Given the description of an element on the screen output the (x, y) to click on. 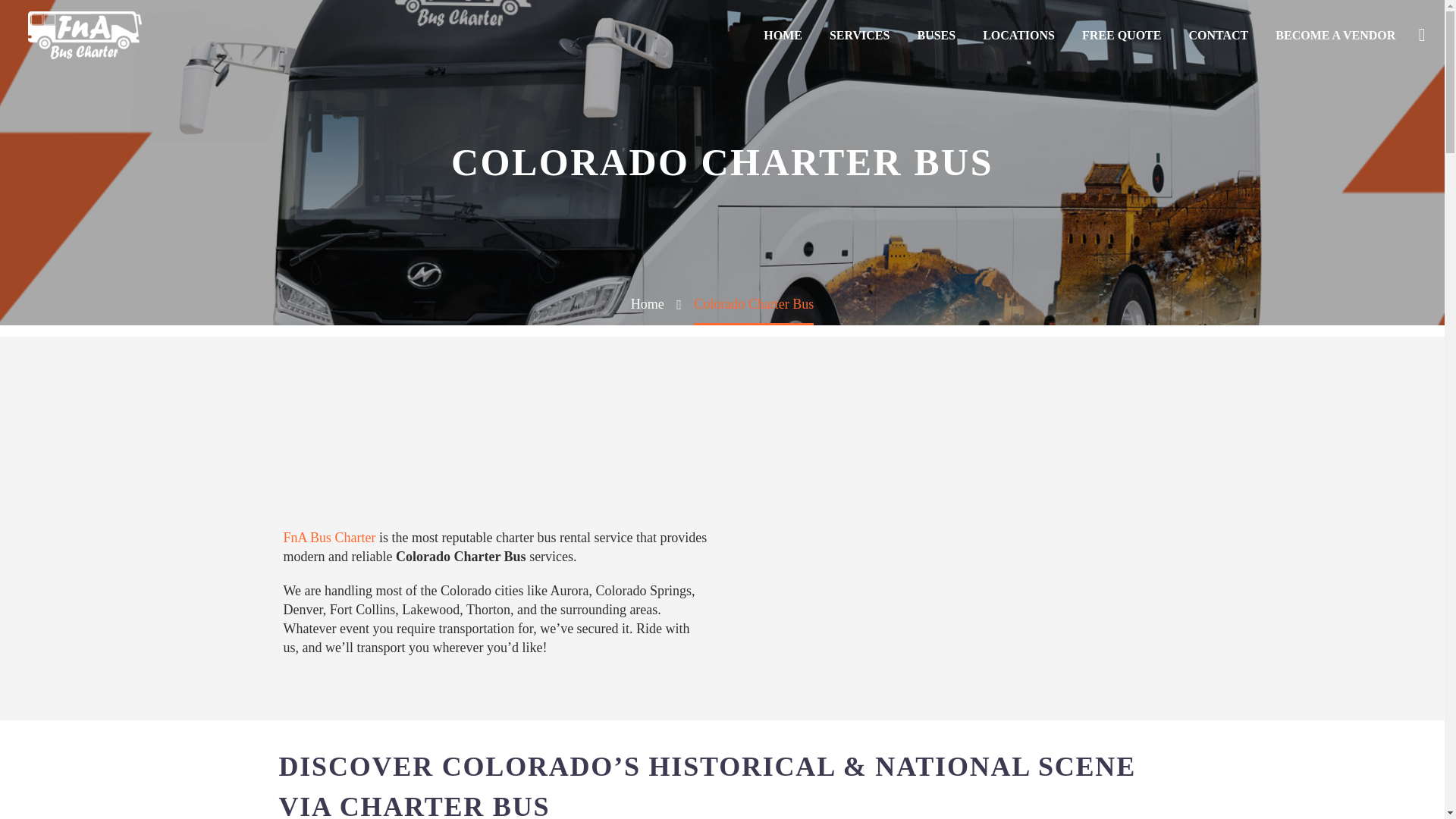
FnA Bus Charter (329, 537)
SERVICES (859, 35)
HOME (782, 35)
FREE QUOTE (1121, 35)
CONTACT (1217, 35)
Home (646, 304)
LOCATIONS (1018, 35)
BUSES (935, 35)
BECOME A VENDOR (1334, 35)
